Given the description of an element on the screen output the (x, y) to click on. 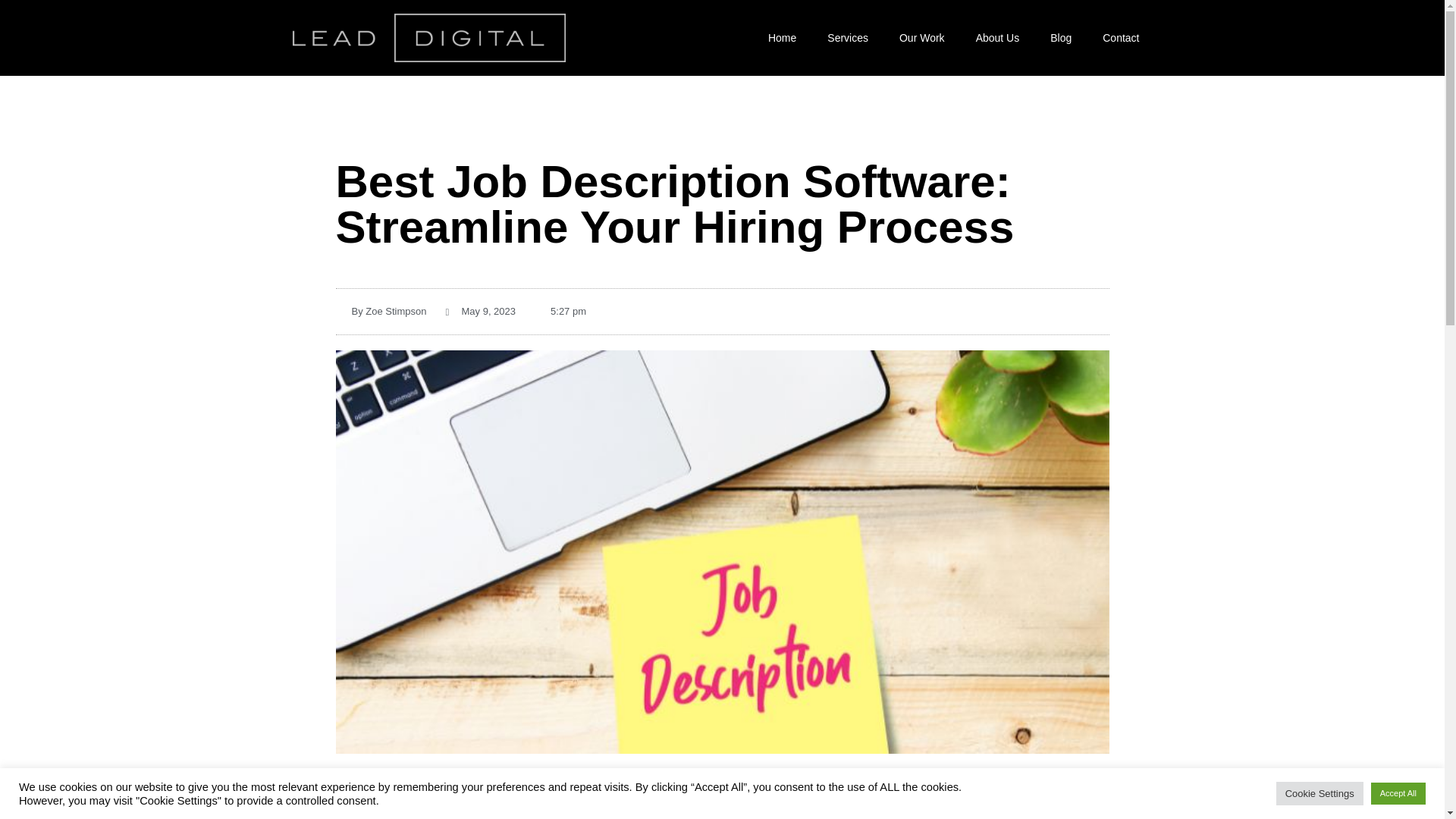
Services (847, 38)
Our Work (921, 38)
By Zoe Stimpson (380, 311)
May 9, 2023 (480, 311)
Accept All (1398, 793)
About Us (997, 38)
Cookie Settings (1319, 793)
